Given the description of an element on the screen output the (x, y) to click on. 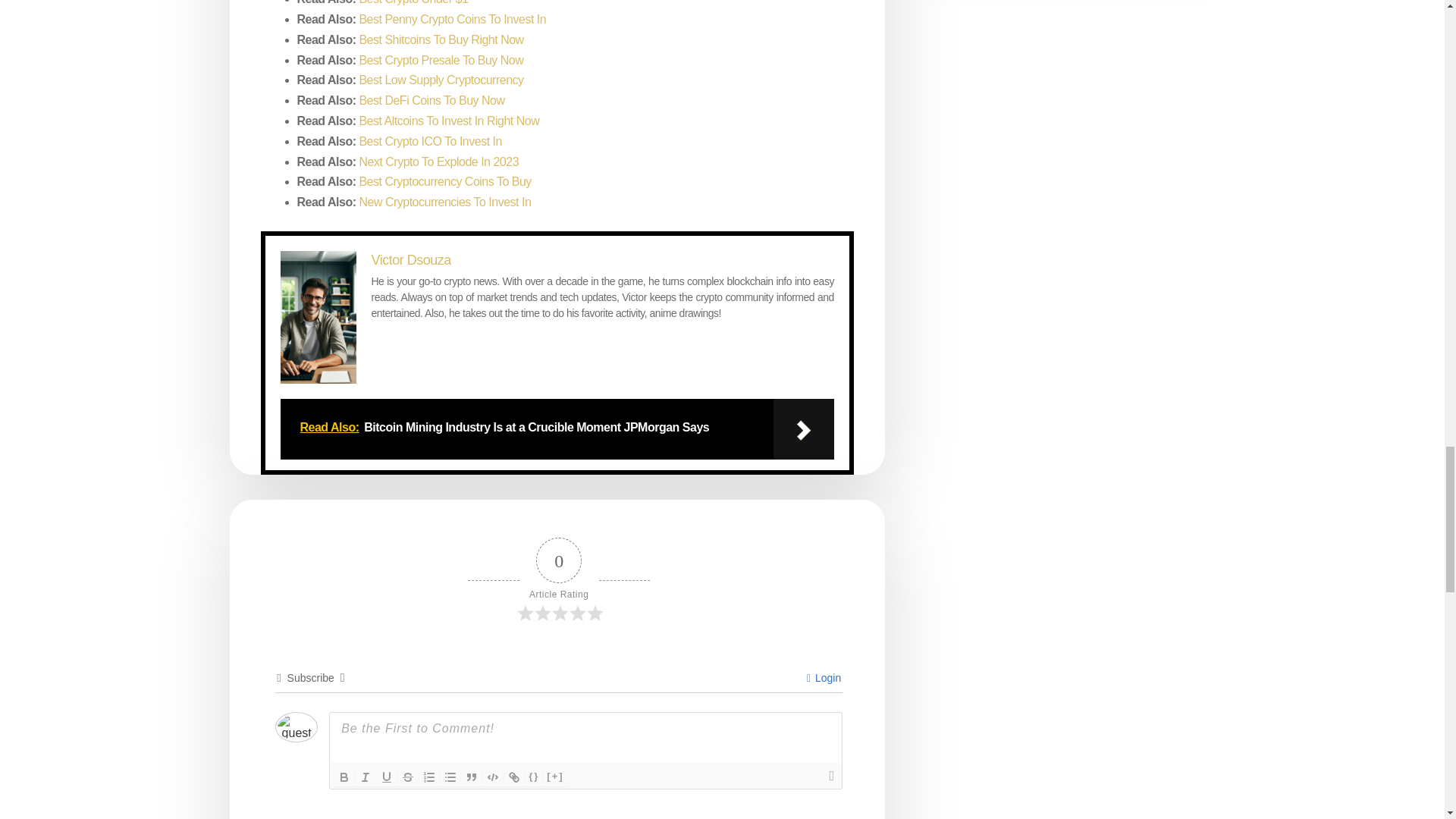
Ordered List (429, 777)
Strike (408, 777)
Italic (365, 777)
Unordered List (450, 777)
Bold (344, 777)
Blockquote (471, 777)
Underline (386, 777)
